Given the description of an element on the screen output the (x, y) to click on. 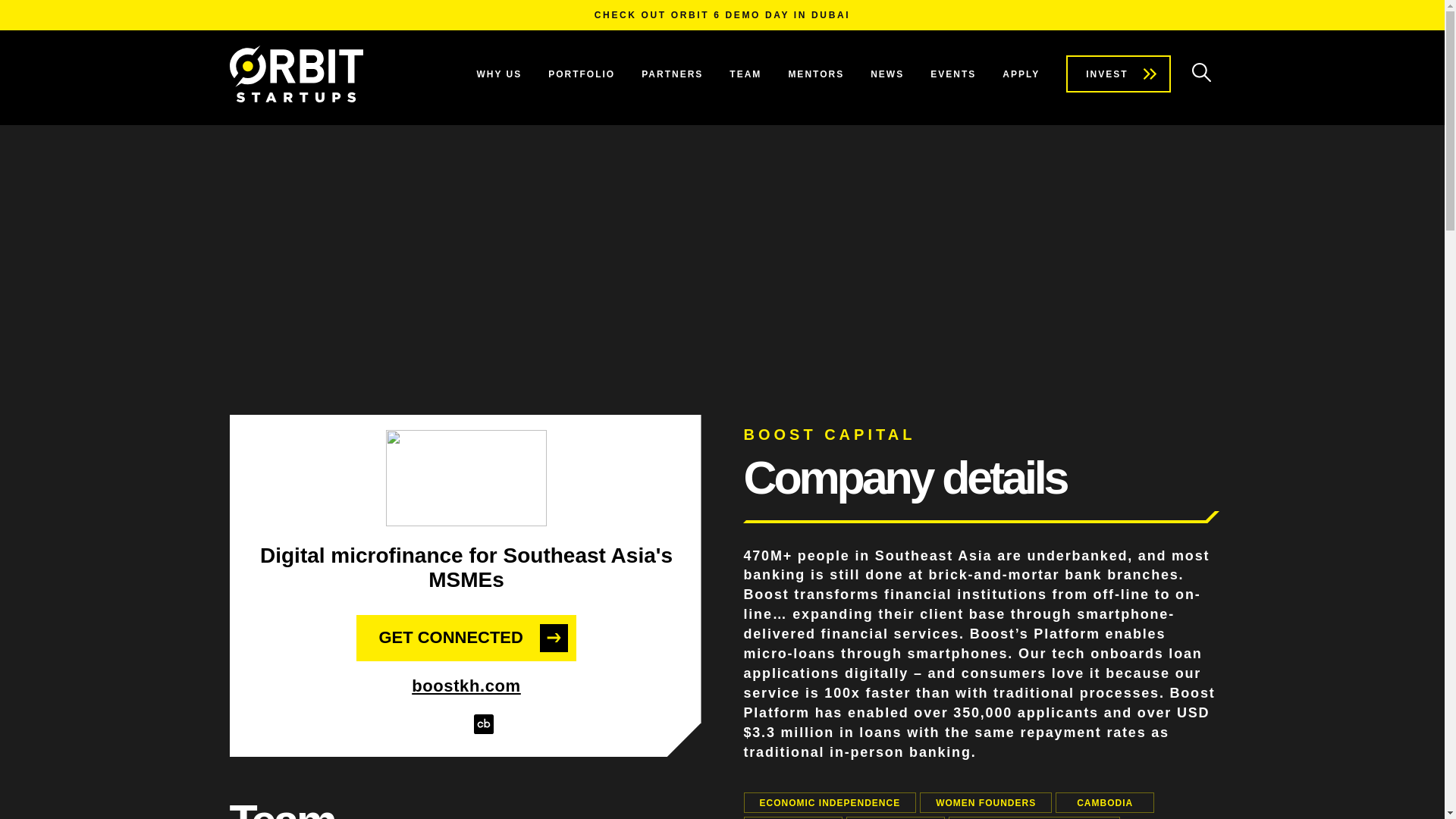
MENTORS (816, 73)
PORTFOLIO (581, 73)
WHY US (498, 73)
CAMBODIA (1104, 802)
PRE-SEED (791, 817)
FINTECH (894, 817)
EVENTS (952, 73)
TEAM (745, 73)
ECONOMIC INDEPENDENCE (828, 802)
APPLY (1021, 73)
INVEST (1117, 73)
GET CONNECTED (465, 638)
WOMEN FOUNDERS (985, 802)
PARTNERS (672, 73)
boostkh.com (466, 685)
